Given the description of an element on the screen output the (x, y) to click on. 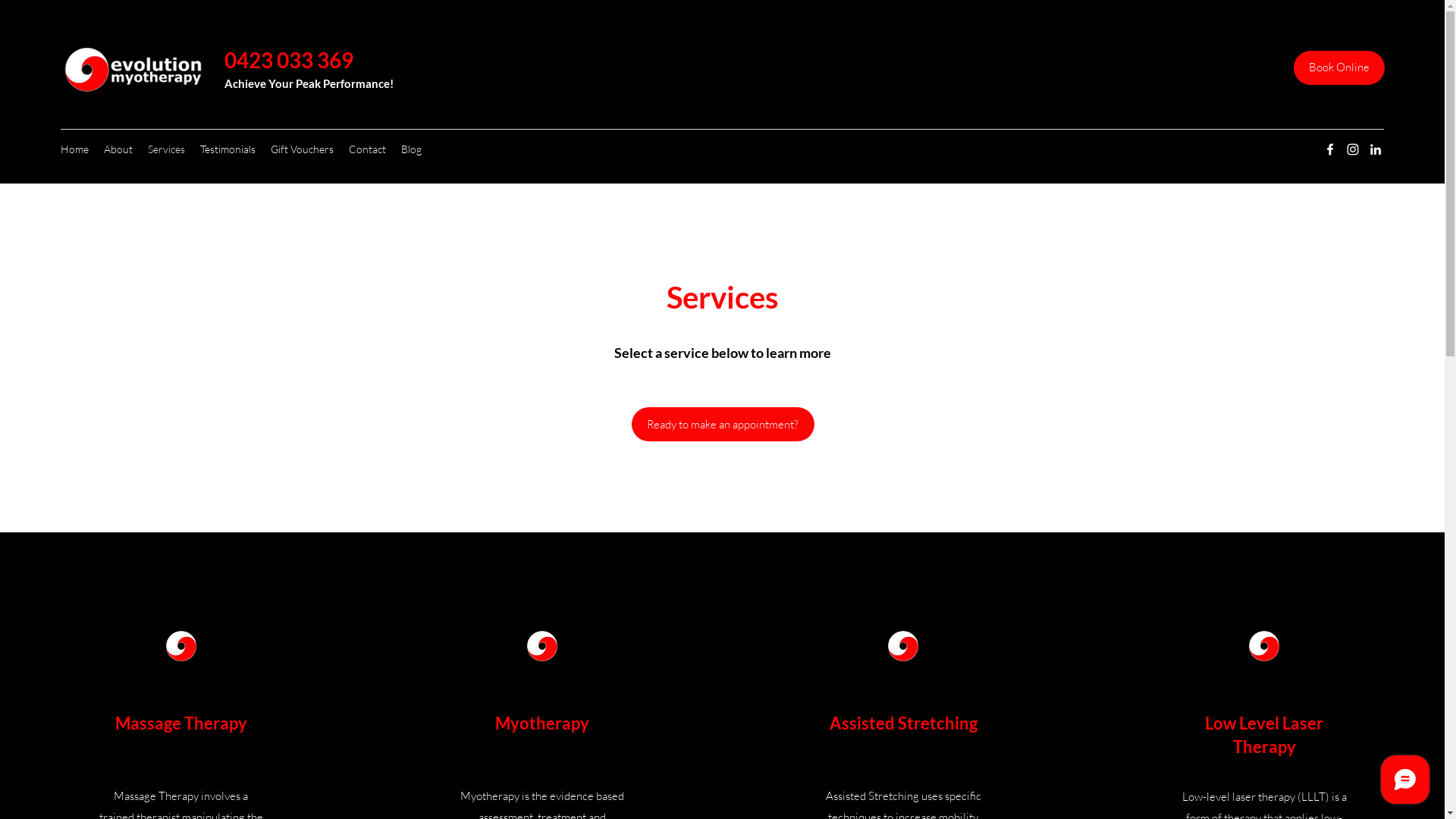
Ready to make an appointment? Element type: text (721, 424)
Testimonials Element type: text (227, 149)
Home Element type: text (74, 149)
Contact Element type: text (367, 149)
Services Element type: text (166, 149)
About Element type: text (118, 149)
Gift Vouchers Element type: text (302, 149)
Book Online Element type: text (1338, 67)
Blog Element type: text (411, 149)
